Given the description of an element on the screen output the (x, y) to click on. 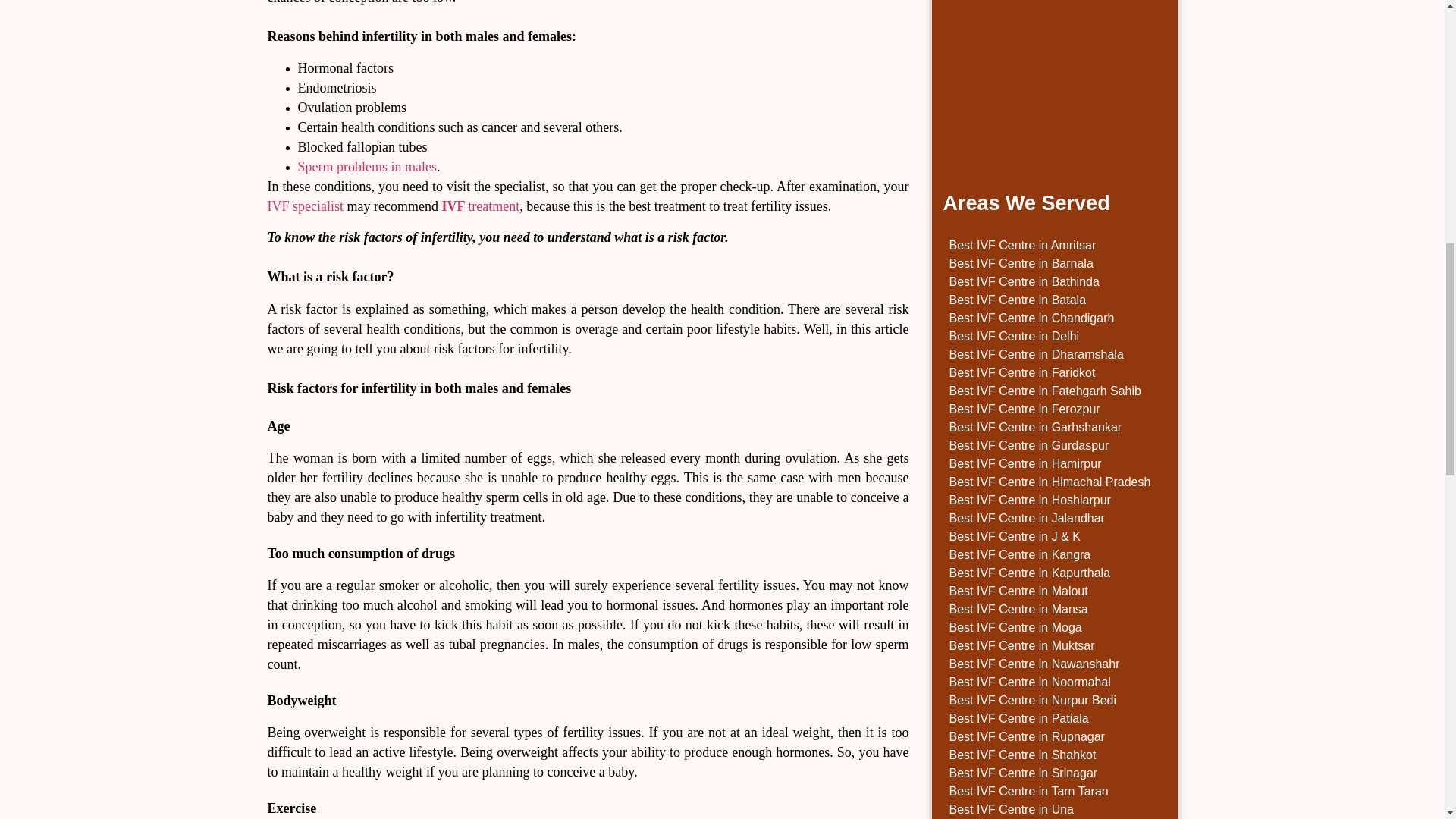
Endometriosis (336, 88)
Sperm problems in males (366, 166)
Blocked fallopian tubes (361, 146)
IVF specialist (304, 206)
IVF treatment (478, 206)
